Given the description of an element on the screen output the (x, y) to click on. 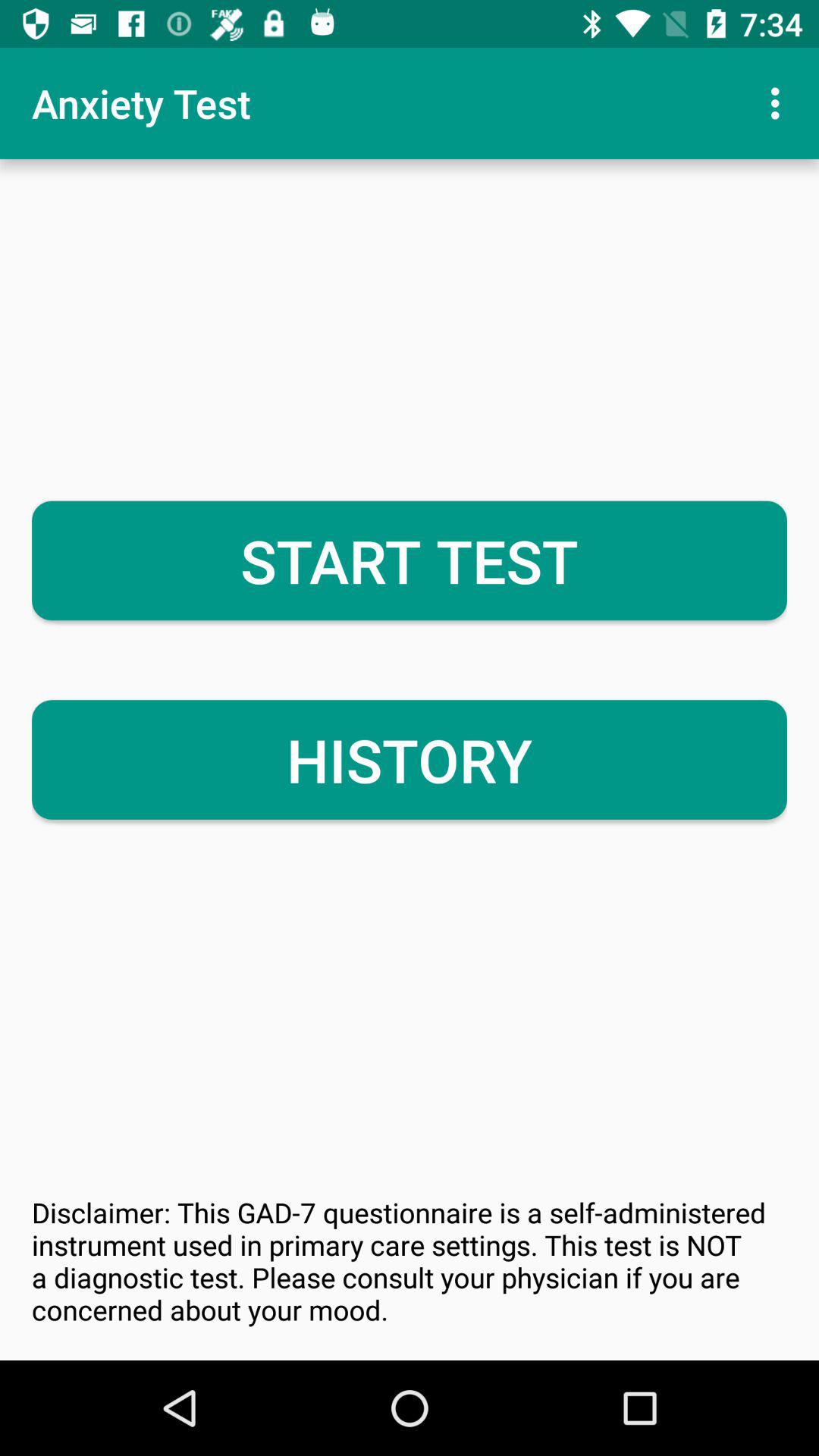
open the icon at the top right corner (779, 103)
